Given the description of an element on the screen output the (x, y) to click on. 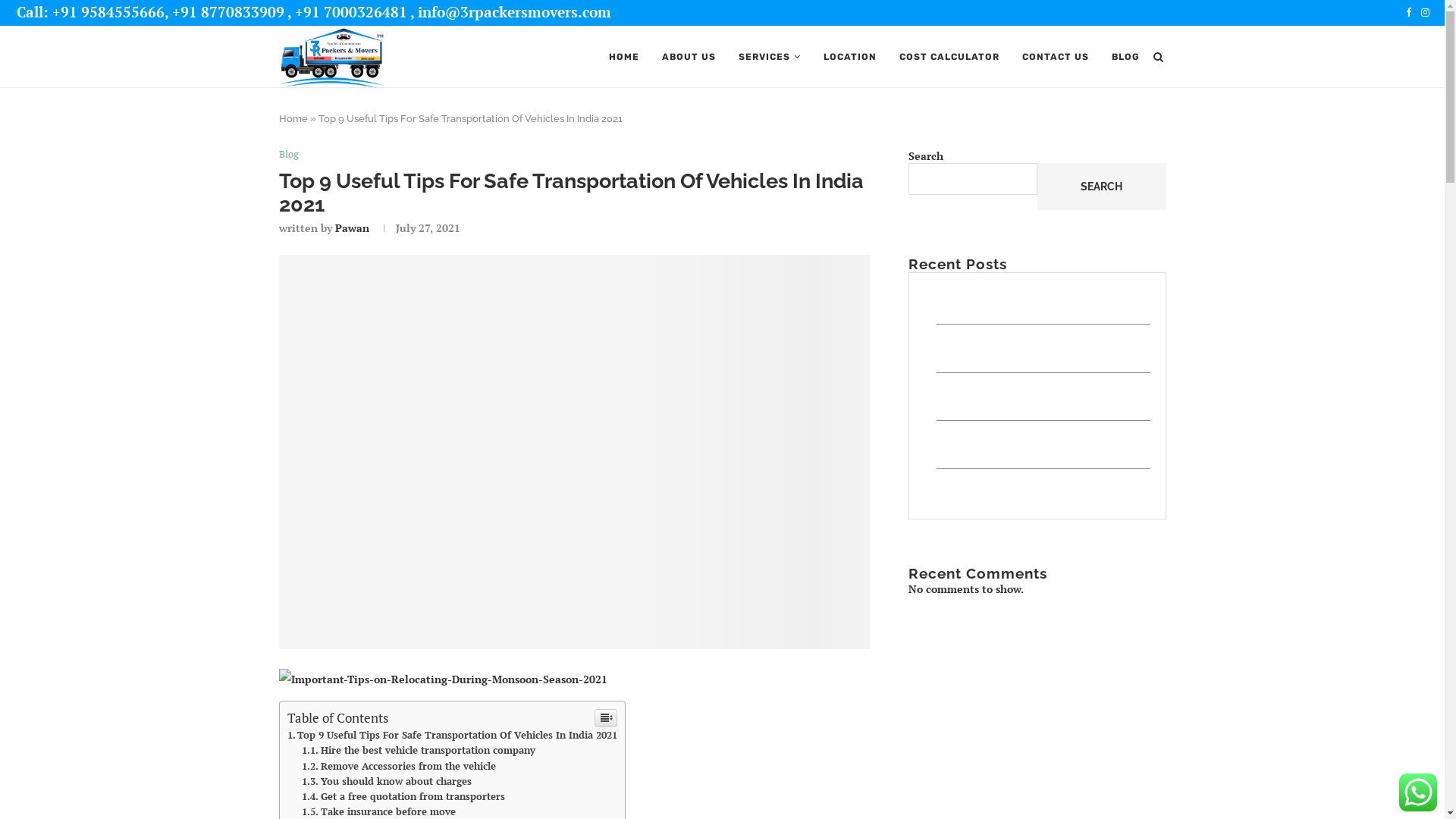
SEARCH Element type: text (1101, 186)
BLOG Element type: text (1125, 56)
Home Element type: text (293, 118)
HOME Element type: text (623, 56)
LOCATION Element type: text (849, 56)
Take insurance before move Element type: text (378, 811)
Hire the best vehicle transportation company Element type: text (418, 749)
The Cheapest City In India To Live At Budget Friendly 2021 Element type: text (1031, 491)
You should know about charges Element type: text (386, 781)
info@3rpackersmovers.com Element type: text (514, 11)
Remove Accessories from the vehicle Element type: text (398, 765)
+91 7000326481 Element type: text (350, 11)
CONTACT US Element type: text (1055, 56)
ABOUT US Element type: text (688, 56)
+91 8770833909 Element type: text (228, 11)
Blog Element type: text (288, 154)
Pawan Element type: text (352, 227)
SERVICES Element type: text (769, 56)
Top 4 Packers And Movers In Bhopal 2021 Element type: text (1029, 347)
Get a free quotation from transporters Element type: text (403, 796)
COST CALCULATOR Element type: text (949, 56)
Call: +91 9584555666 Element type: text (90, 11)
